Given the description of an element on the screen output the (x, y) to click on. 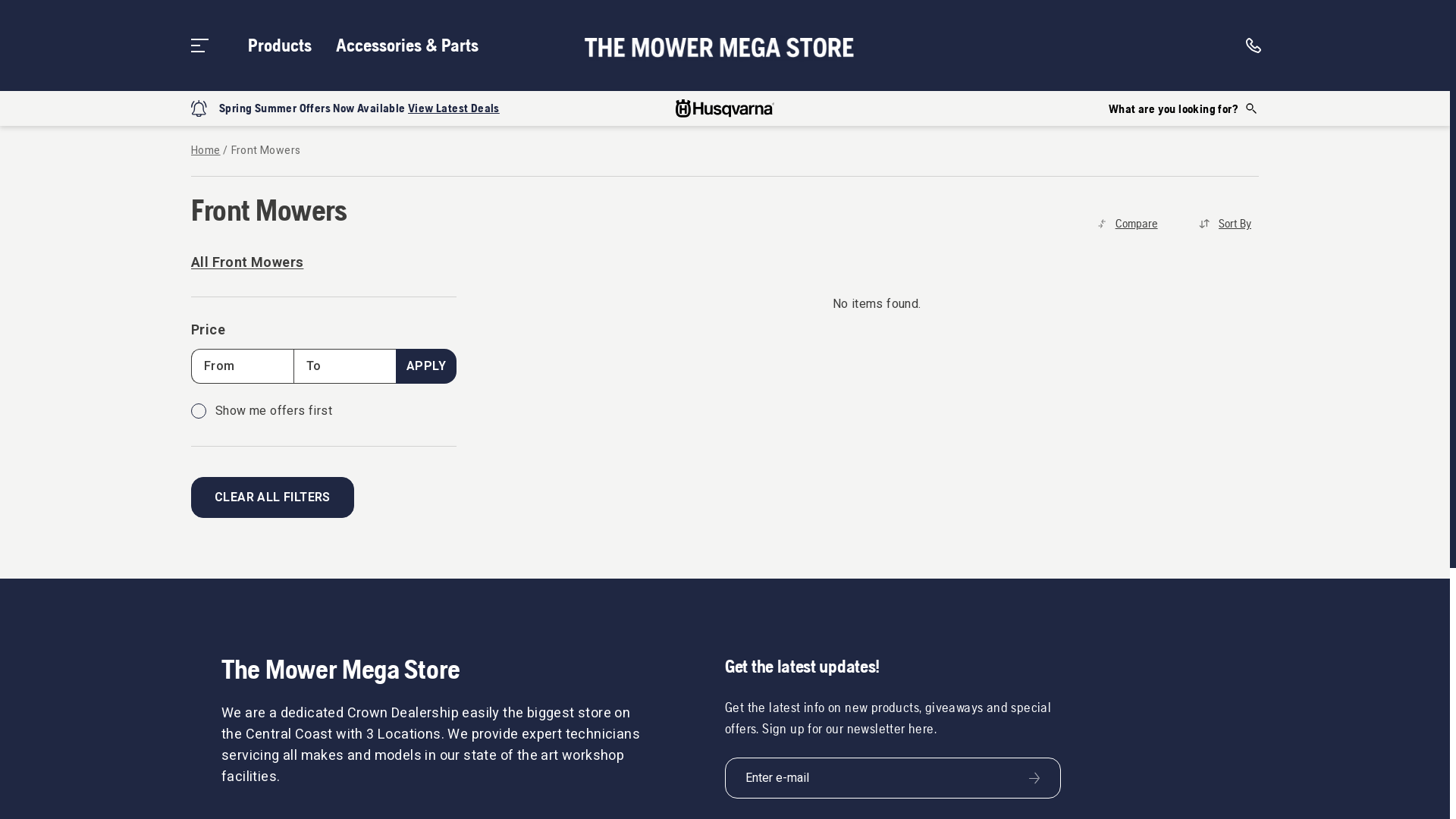
All Front Mowers Element type: text (304, 262)
Products Element type: text (279, 45)
APPLY Element type: text (425, 365)
CLEAR ALL FILTERS Element type: text (272, 496)
Accessories & Parts Element type: text (406, 45)
Sort By Element type: text (1224, 223)
View Latest Deals Element type: text (453, 107)
Compare Element type: text (1127, 223)
Home Element type: text (205, 150)
What are you looking for? Element type: text (1183, 108)
